Given the description of an element on the screen output the (x, y) to click on. 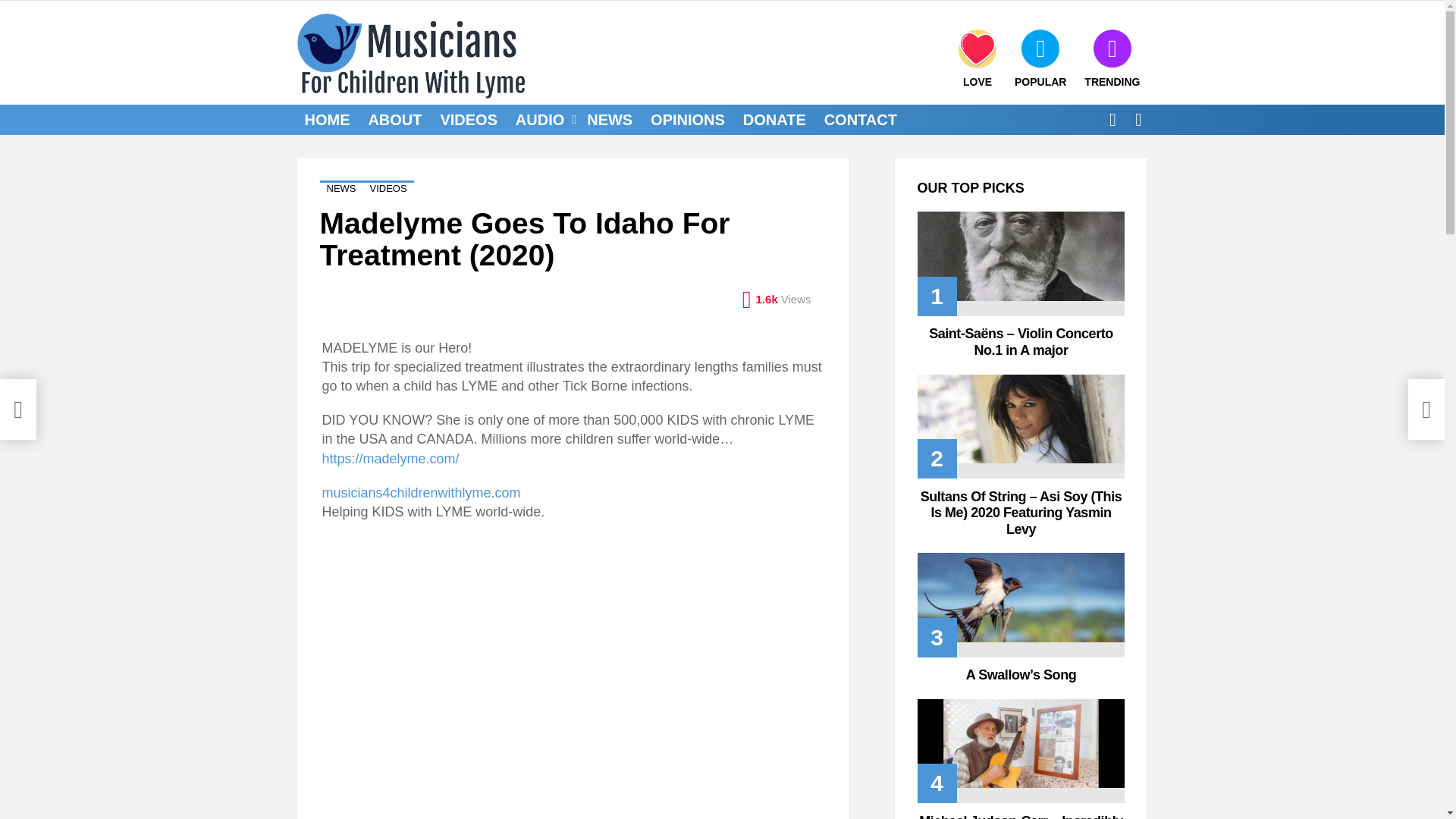
AUDIO (542, 119)
POPULAR (1040, 58)
VIDEOS (468, 119)
musicians4childrenwithlyme.com (420, 492)
OPINIONS (687, 119)
DONATE (774, 119)
VIDEOS (387, 187)
SEARCH (1112, 119)
LOVE (977, 58)
TRENDING (1112, 58)
LOGIN (1138, 119)
ABOUT (394, 119)
CONTACT (860, 119)
HOME (327, 119)
